Given the description of an element on the screen output the (x, y) to click on. 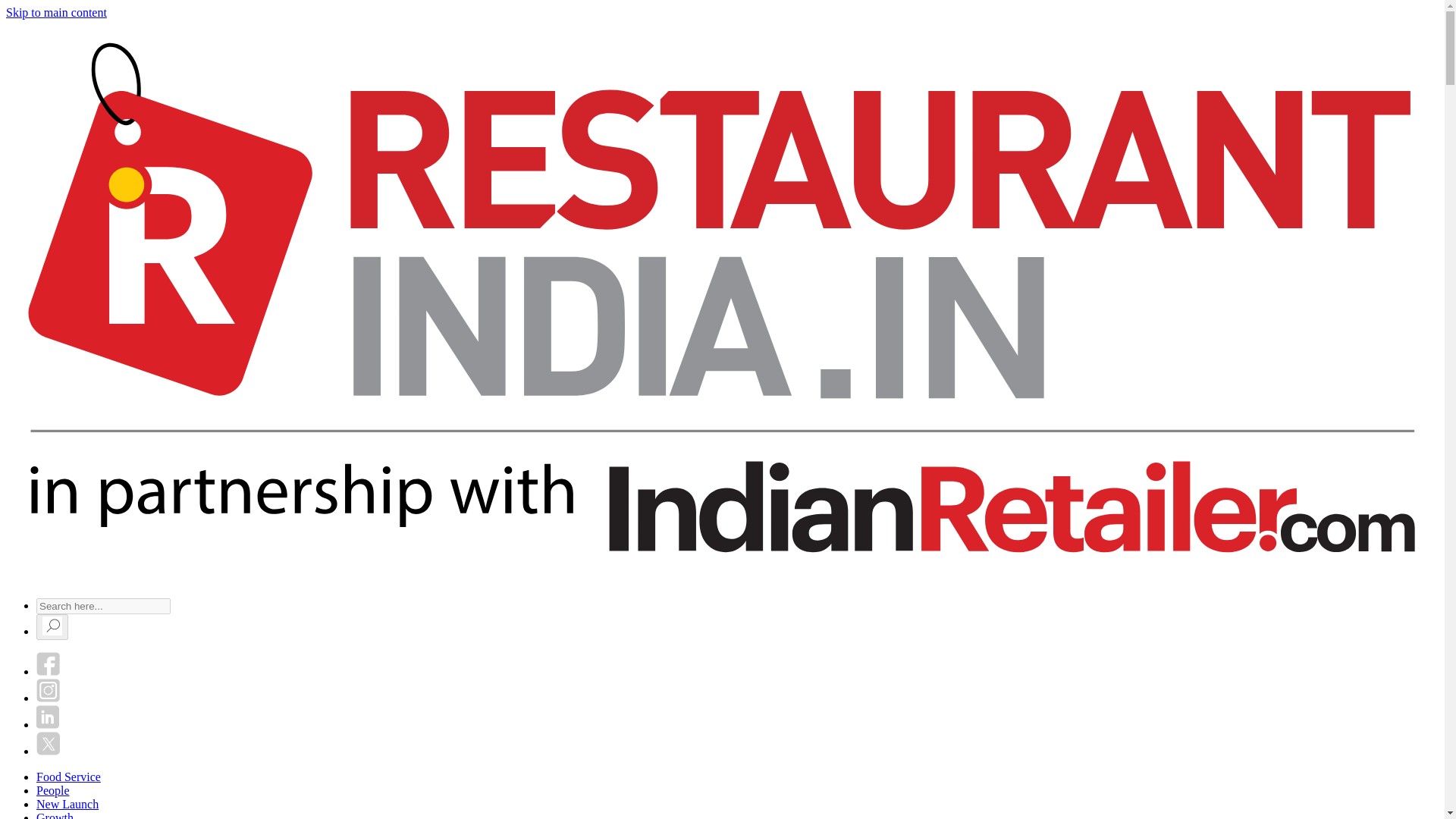
Food Service (68, 776)
Growth (55, 815)
New Launch (67, 803)
Skip to main content (55, 11)
People (52, 789)
